Given the description of an element on the screen output the (x, y) to click on. 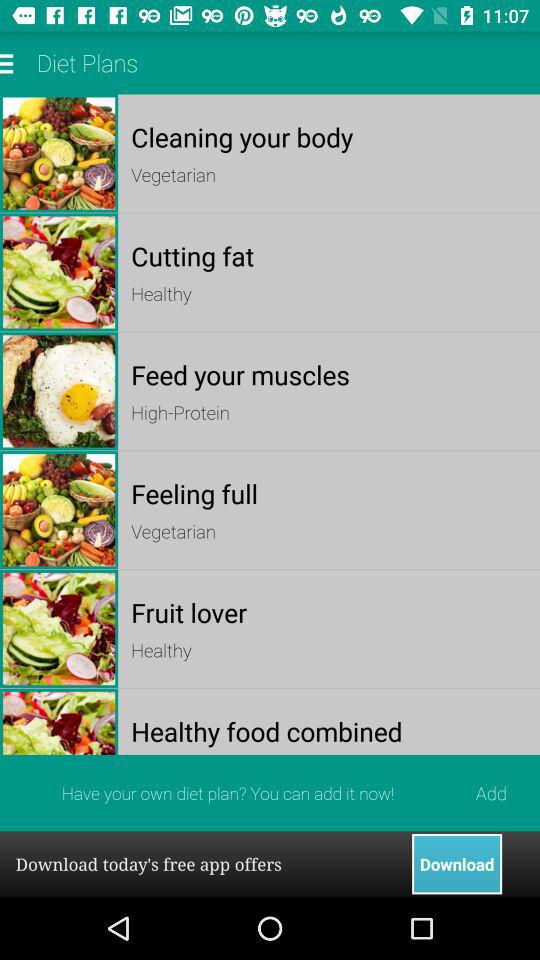
tap item above the feeling full (328, 412)
